Given the description of an element on the screen output the (x, y) to click on. 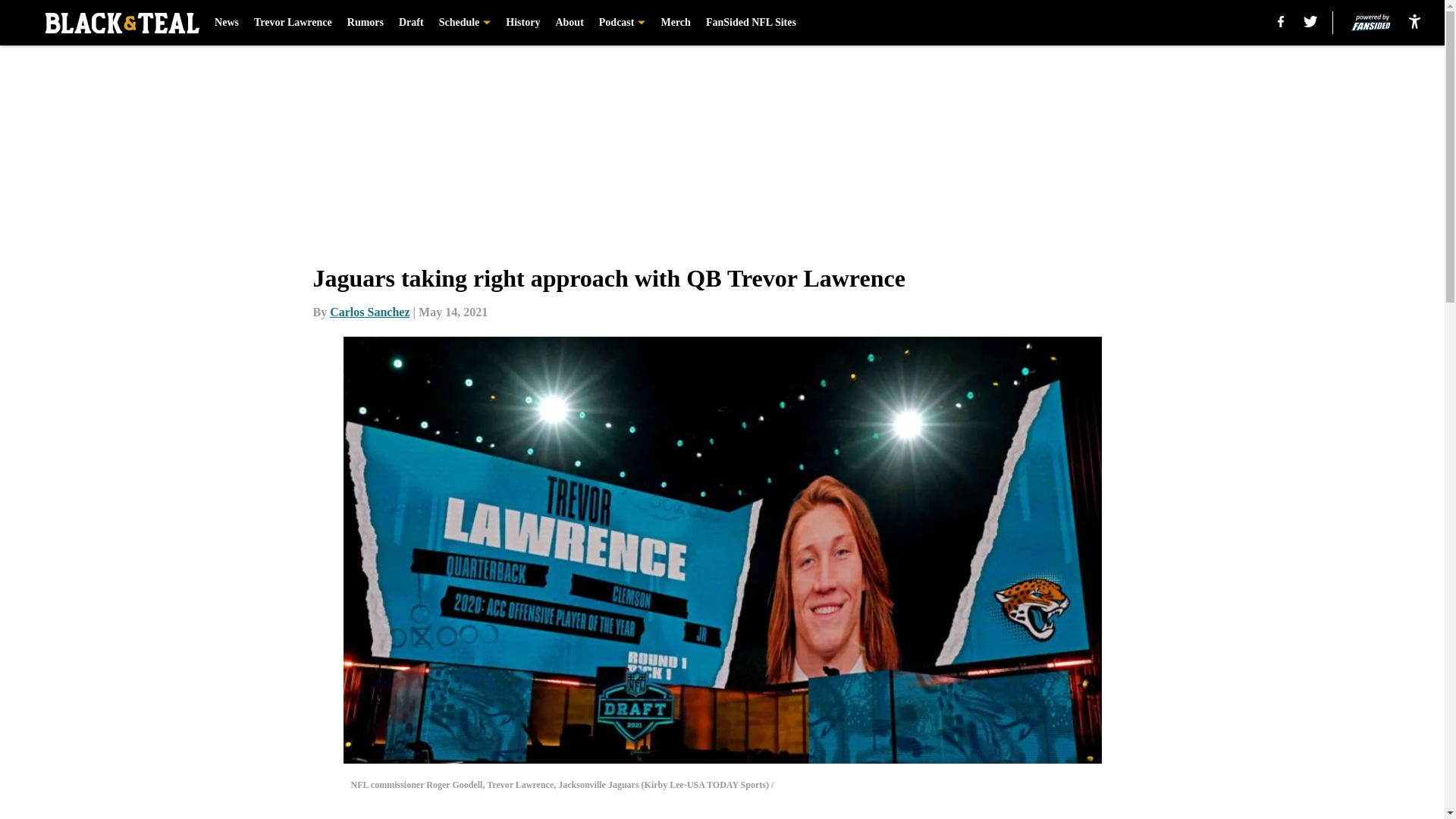
Merch (675, 22)
About (568, 22)
History (522, 22)
FanSided NFL Sites (751, 22)
Trevor Lawrence (292, 22)
News (226, 22)
Carlos Sanchez (369, 311)
Rumors (365, 22)
Draft (410, 22)
